Given the description of an element on the screen output the (x, y) to click on. 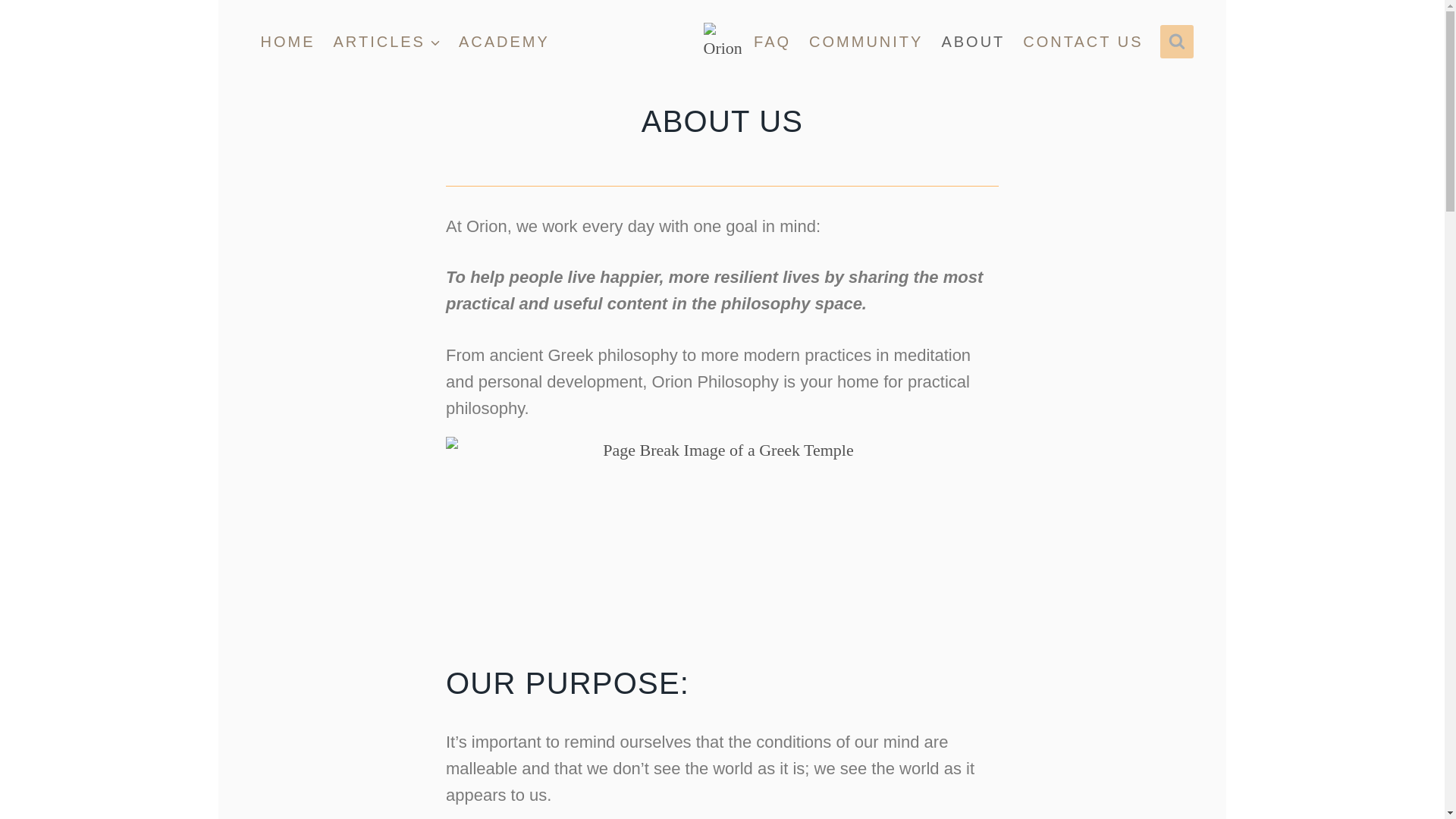
COMMUNITY (865, 41)
FAQ (771, 41)
CONTACT US (1082, 41)
ABOUT (972, 41)
HOME (287, 41)
ACADEMY (504, 41)
ARTICLES (386, 41)
